Given the description of an element on the screen output the (x, y) to click on. 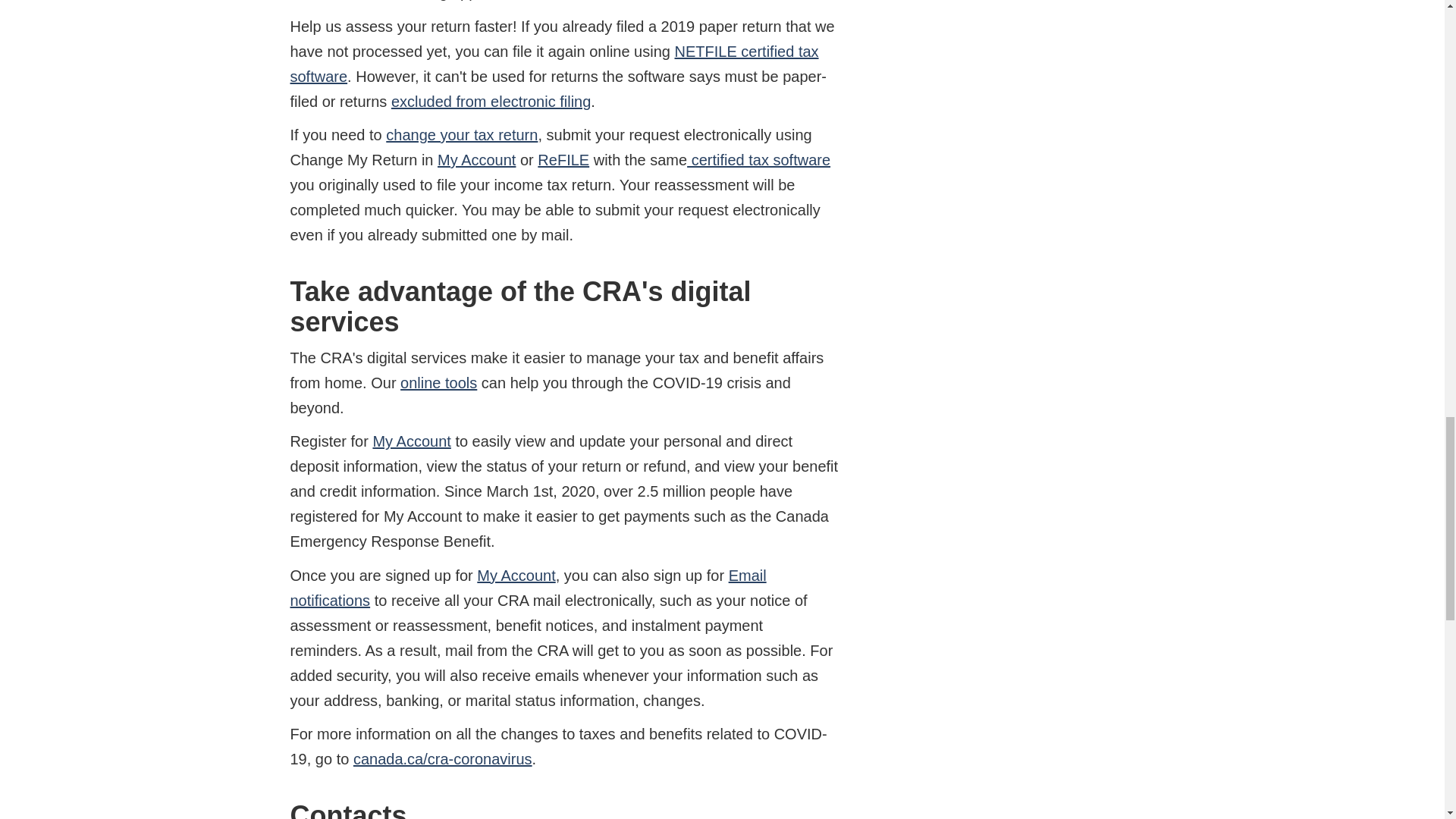
change your tax return (461, 134)
NETFILE certified tax software (553, 64)
ReFILE (563, 159)
certified tax software (758, 159)
excluded from electronic filing (491, 101)
My Account (476, 159)
